Given the description of an element on the screen output the (x, y) to click on. 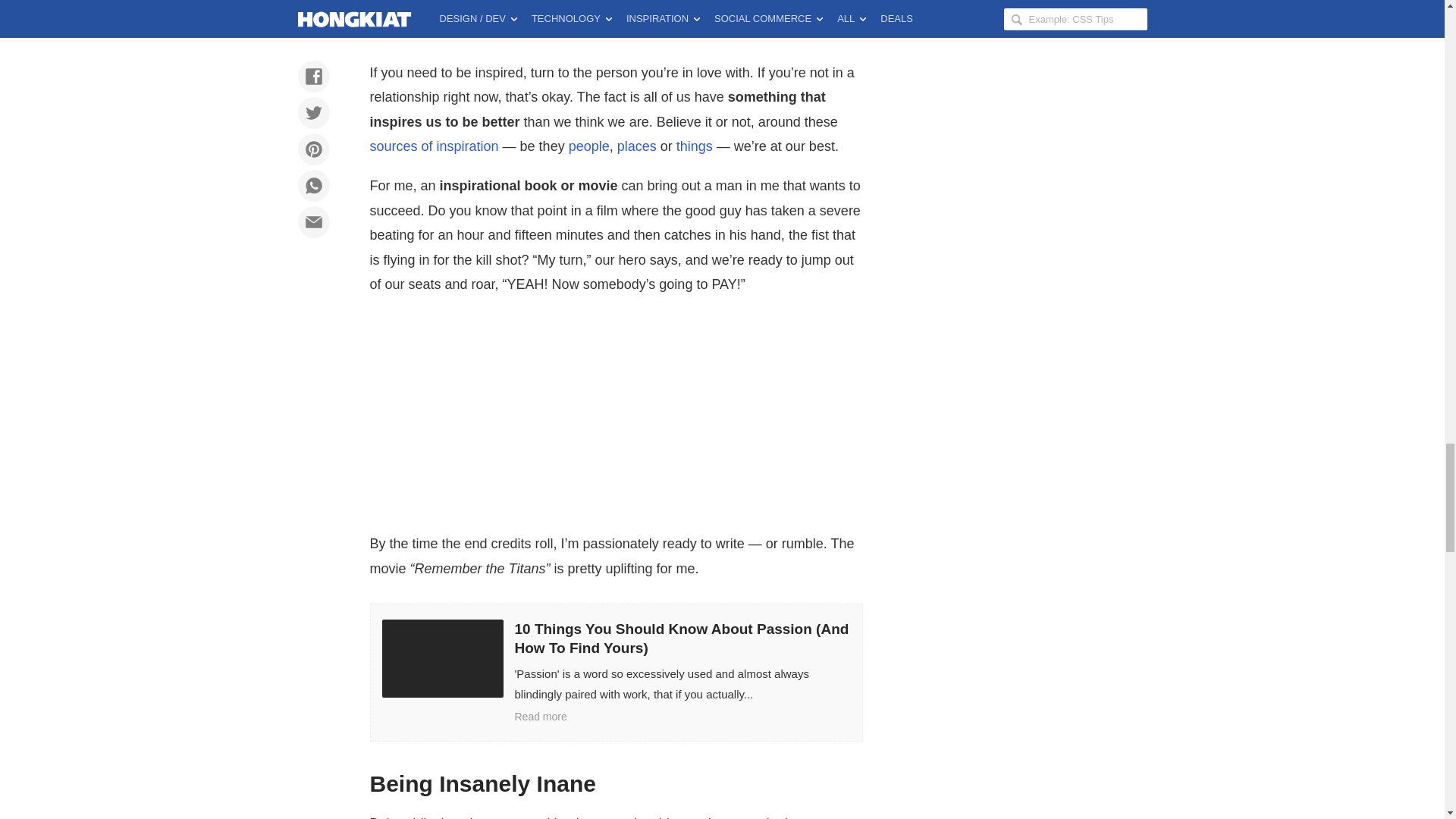
places (636, 145)
people (589, 145)
things (695, 145)
Advertisement (616, 26)
sources of inspiration (434, 145)
